Given the description of an element on the screen output the (x, y) to click on. 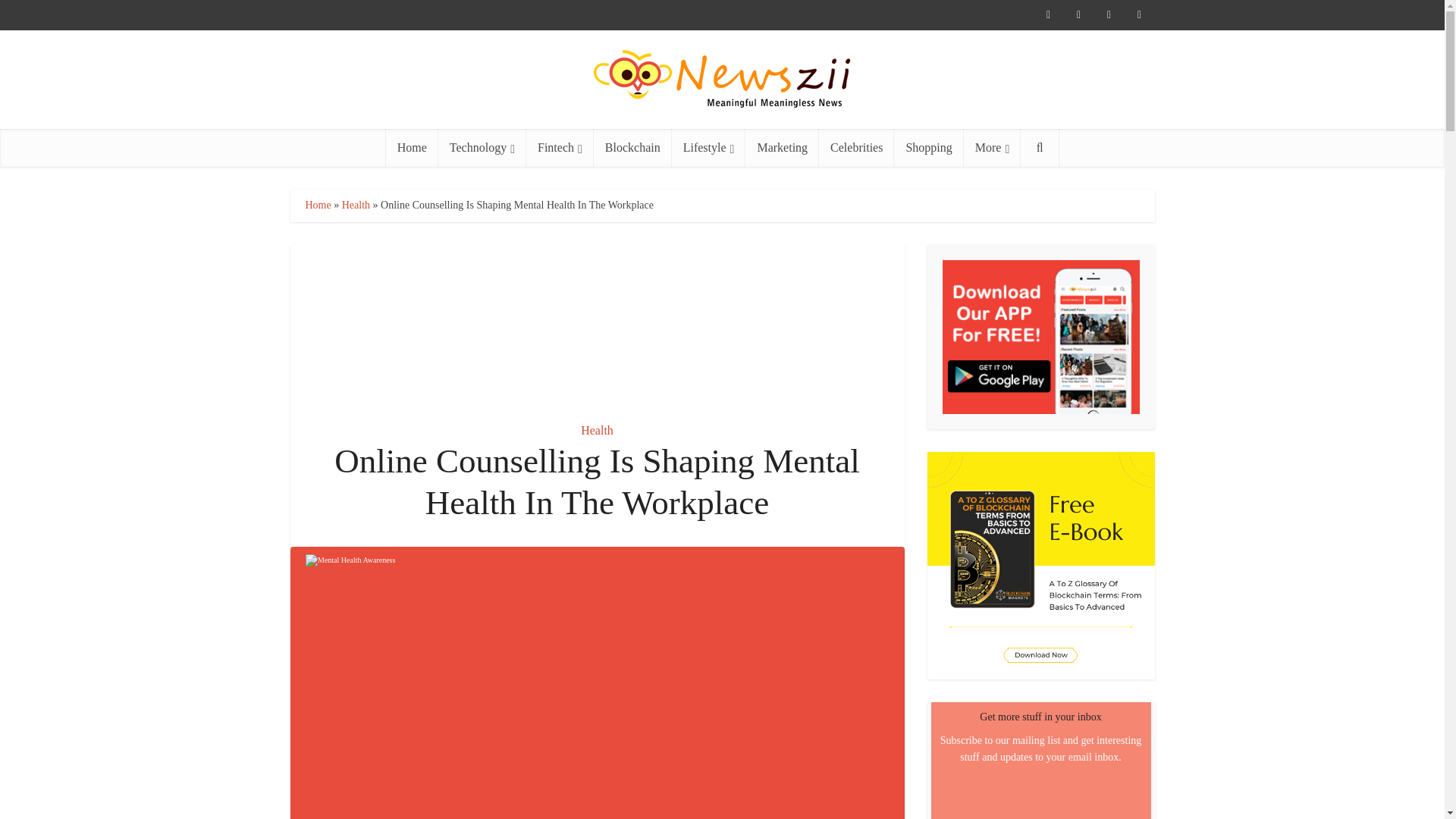
Lifestyle (708, 147)
Technology (481, 147)
Fintech (559, 147)
Home (411, 147)
Blockchain (632, 147)
